Given the description of an element on the screen output the (x, y) to click on. 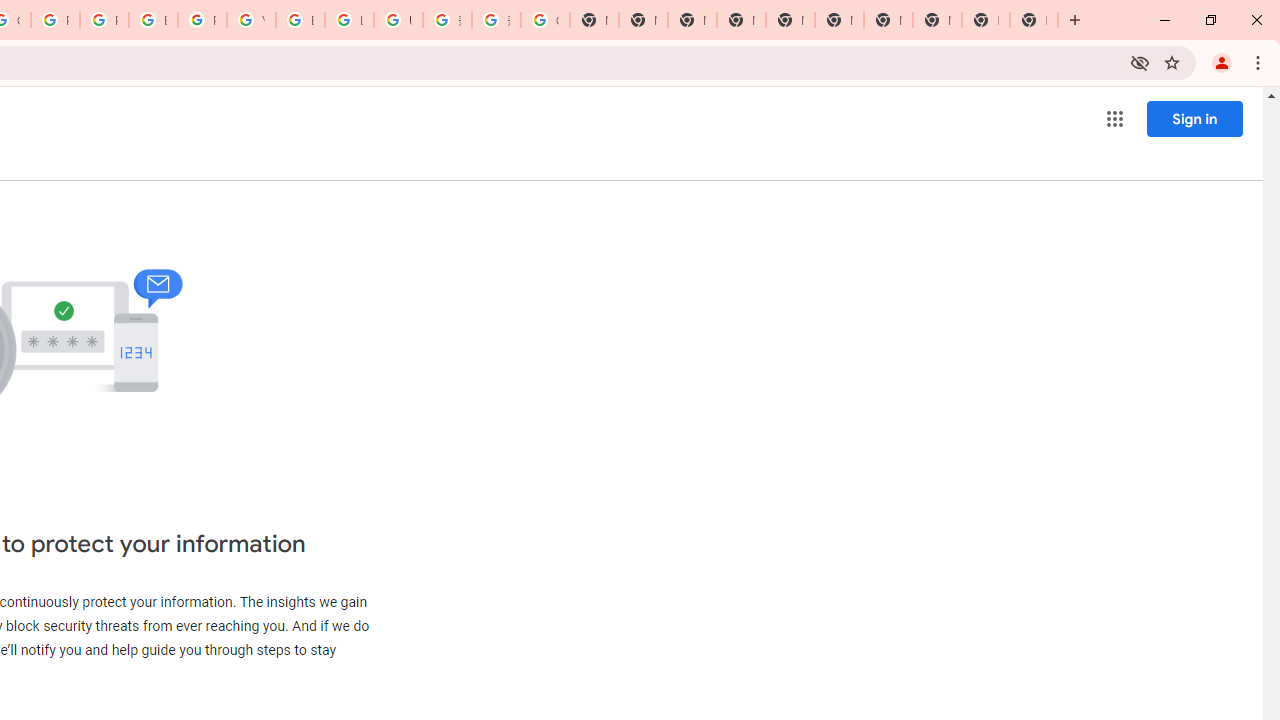
Privacy Help Center - Policies Help (104, 20)
YouTube (251, 20)
Google Images (545, 20)
New Tab (1033, 20)
New Tab (740, 20)
